Given the description of an element on the screen output the (x, y) to click on. 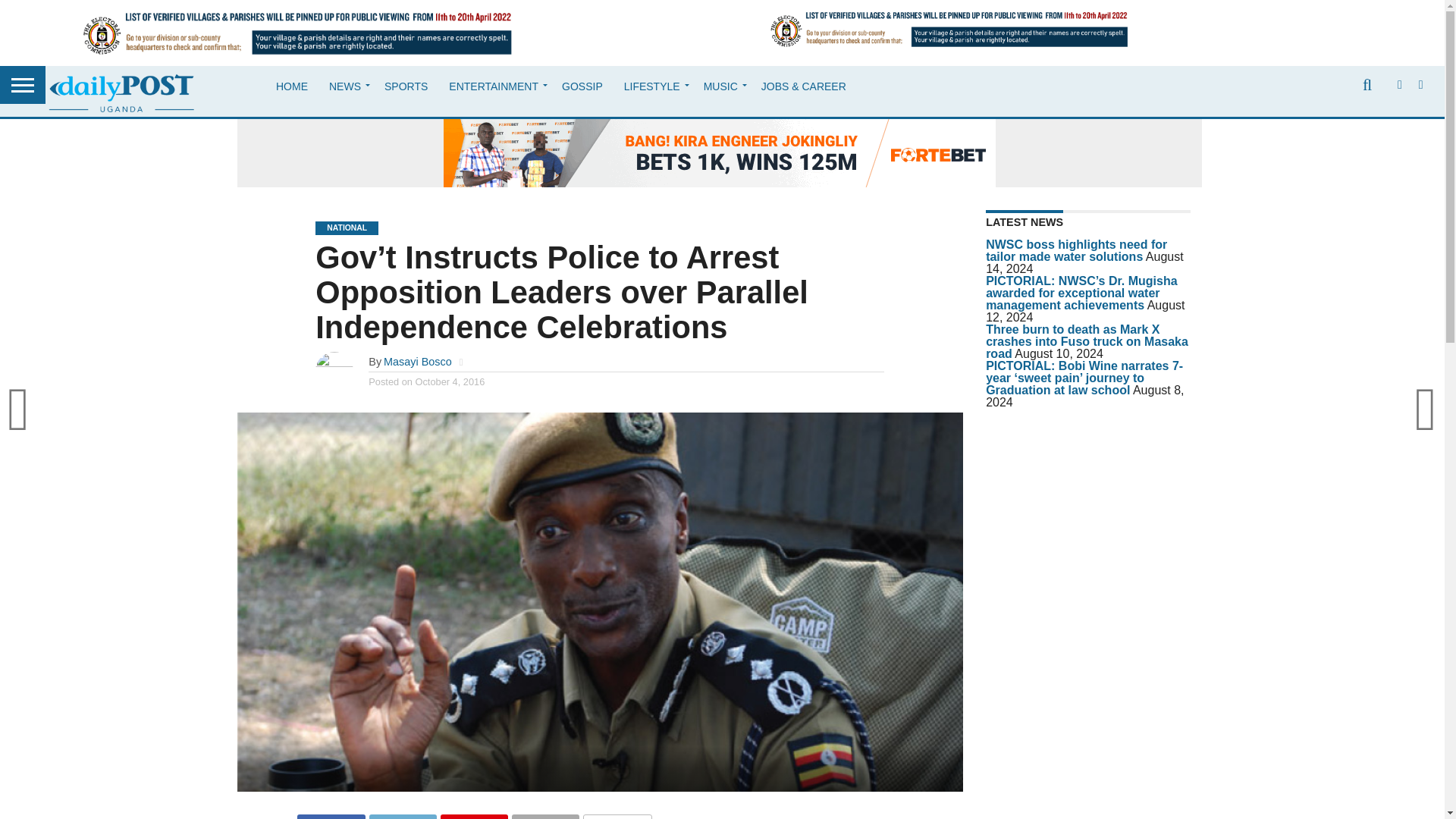
Pin This Post (473, 816)
ENTERTAINMENT (494, 86)
HOME (291, 86)
Tweet This Post (402, 816)
Share on Facebook (331, 816)
Posts by Masayi Bosco (417, 361)
LIFESTYLE (652, 86)
NEWS (346, 86)
GOSSIP (581, 86)
SPORTS (406, 86)
